Given the description of an element on the screen output the (x, y) to click on. 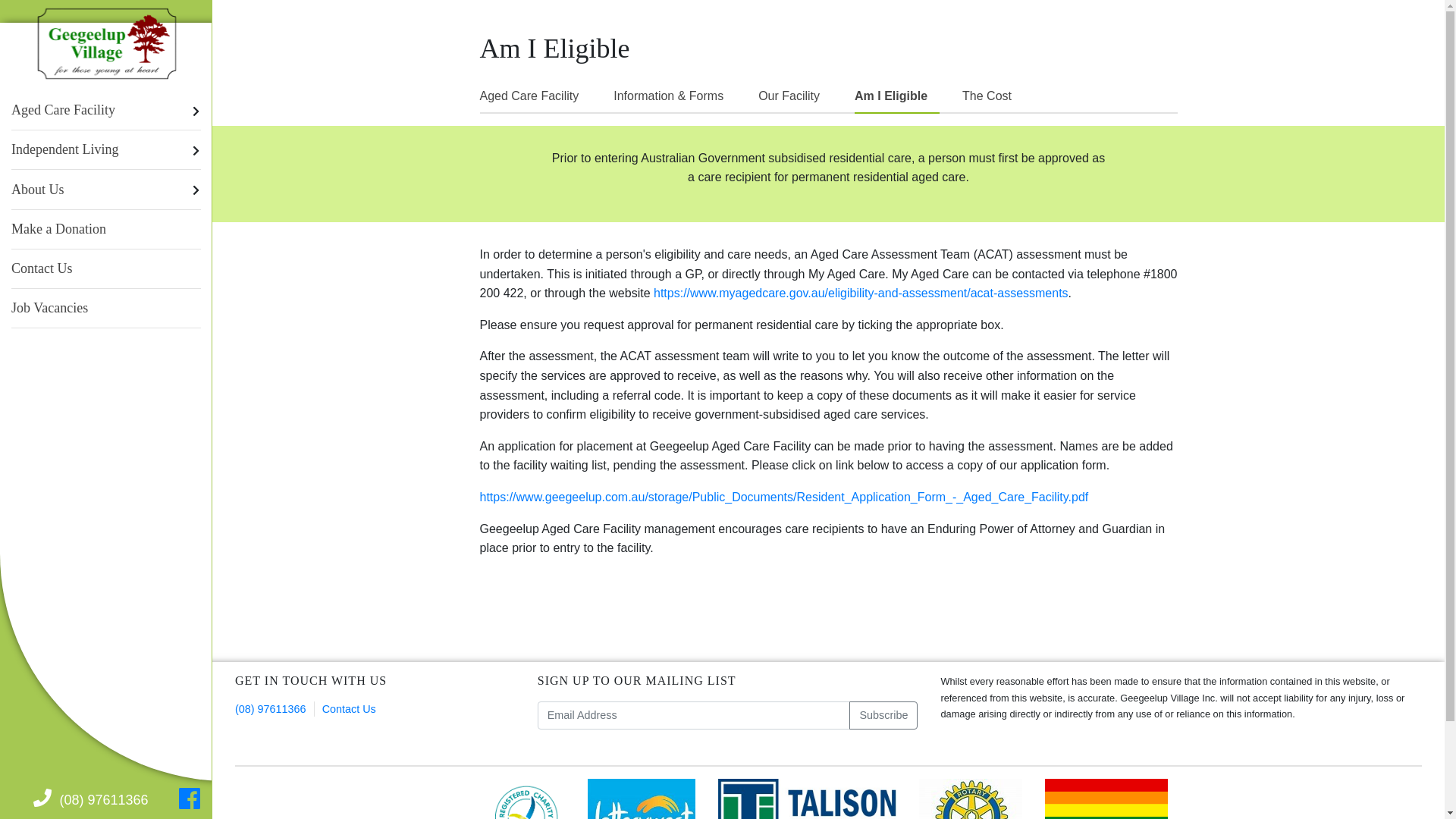
Our Facility Element type: text (215, 150)
Subscribe Element type: text (883, 715)
Am I Eligible Element type: text (896, 96)
Information & Forms Element type: text (674, 96)
Geegeelup Village Facebook Element type: hover (189, 798)
Contact Us Element type: text (105, 268)
Aged Care Facility Element type: text (105, 110)
Make a Donation Element type: text (105, 229)
Job Vacancies Element type: text (105, 307)
Information & Forms Element type: text (215, 110)
Independent Living Element type: text (105, 149)
(08) 97611366 Element type: text (270, 708)
Geegeelup Village Element type: text (106, 43)
The Cost Element type: text (215, 229)
About Us Element type: text (105, 188)
(08) 97611366 Element type: text (91, 799)
Our Facility Element type: text (794, 96)
Am I Eligible Element type: text (215, 189)
Aged Care Facility Element type: text (534, 96)
Contact Us Element type: text (349, 708)
The Cost Element type: text (992, 96)
More Information Element type: text (215, 268)
